Given the description of an element on the screen output the (x, y) to click on. 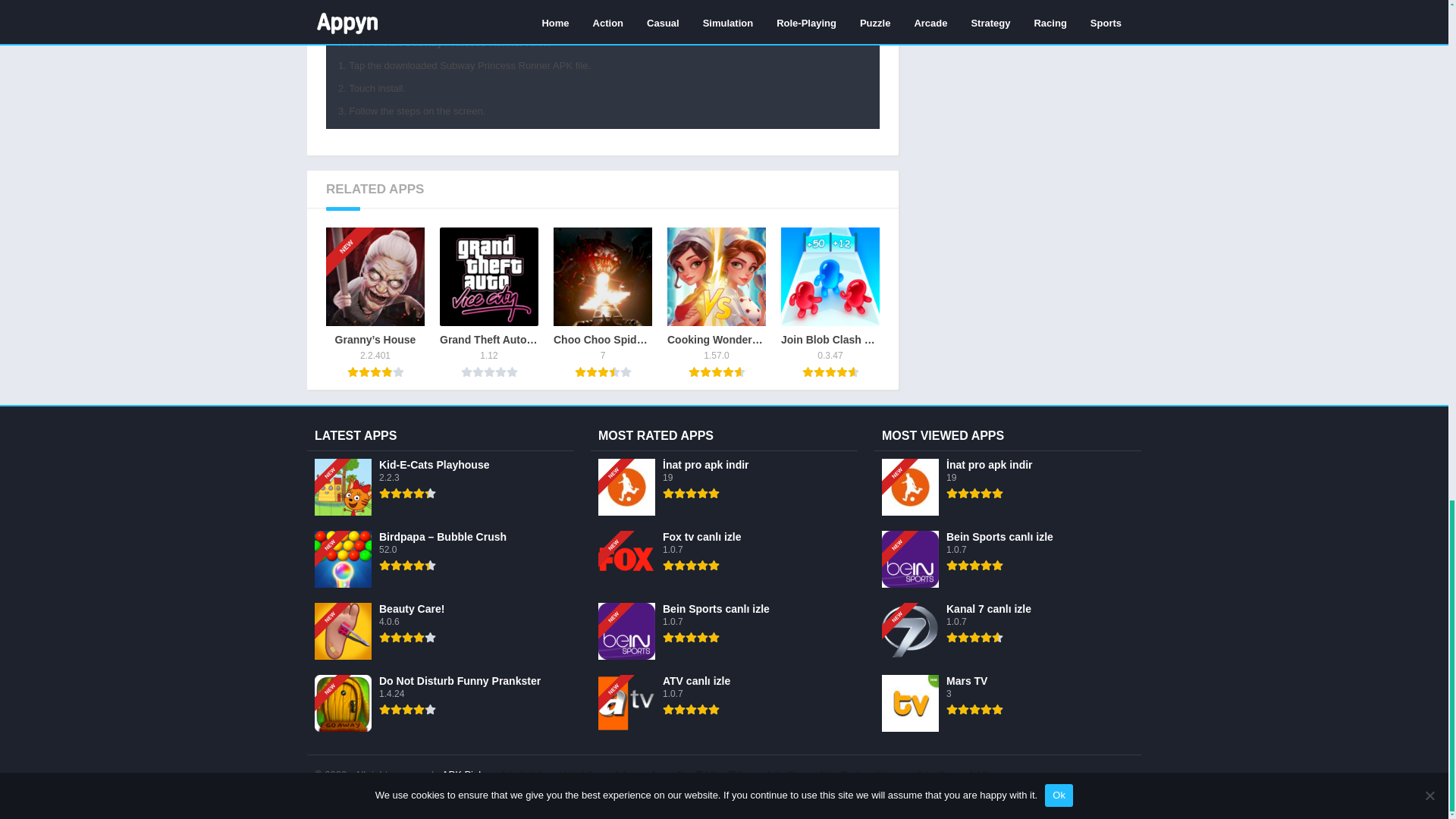
New (352, 221)
Grand Theft Auto: Vice City 4 (488, 276)
Cooking Wonder: Cooking Games 6 (715, 276)
Choo Choo Spider Monster Train 5 (602, 276)
Granny's House 3 (375, 276)
Join Blob Clash 3D: Mob Runner 7 (829, 276)
